Given the description of an element on the screen output the (x, y) to click on. 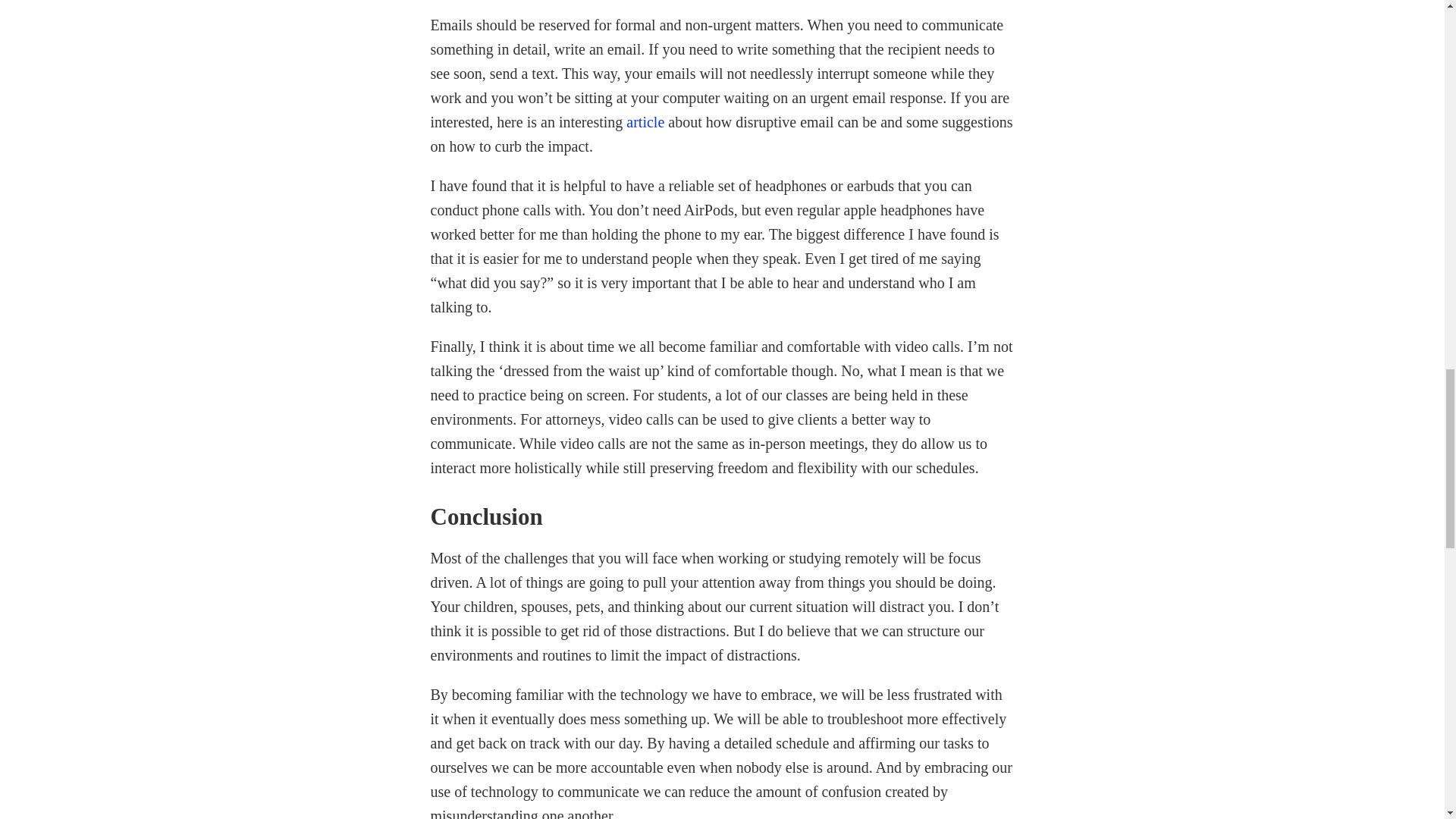
article (644, 121)
